Given the description of an element on the screen output the (x, y) to click on. 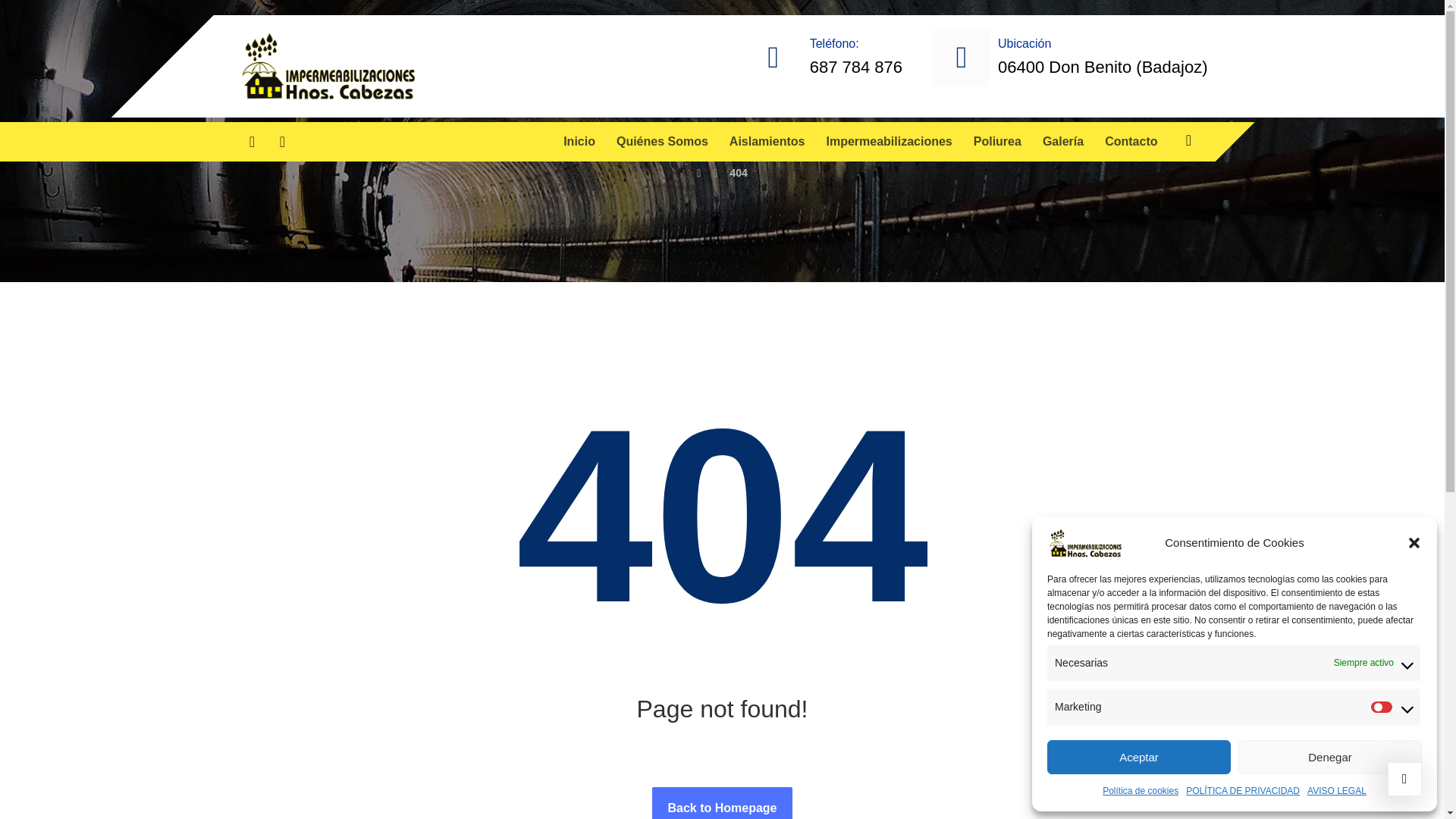
Inicio (579, 141)
Home page (698, 173)
AVISO LEGAL (1337, 791)
404 (737, 173)
Aceptar (1138, 756)
Back to Homepage (722, 803)
Aislamientos (767, 141)
Impermeabilizaciones (888, 141)
Poliurea (998, 141)
Contacto (1131, 141)
Denegar (1330, 756)
AISLAMIENTOS E IMPERMEABILIZACIONES EN EXTREMADURA (327, 65)
